Given the description of an element on the screen output the (x, y) to click on. 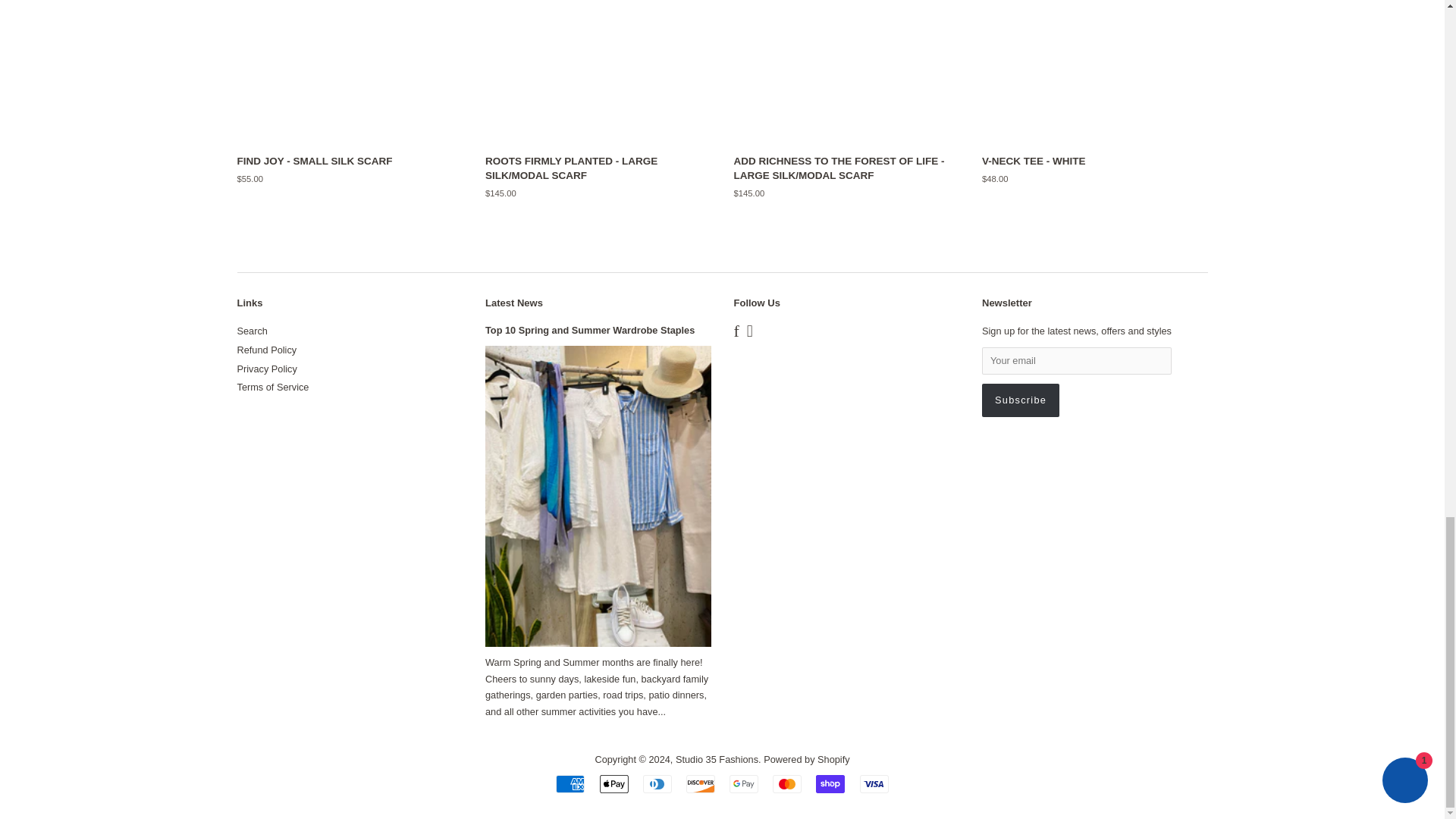
Subscribe (1020, 400)
Shop Pay (829, 783)
Diners Club (657, 783)
Mastercard (787, 783)
Google Pay (743, 783)
Visa (874, 783)
Discover (699, 783)
American Express (570, 783)
Apple Pay (613, 783)
